Given the description of an element on the screen output the (x, y) to click on. 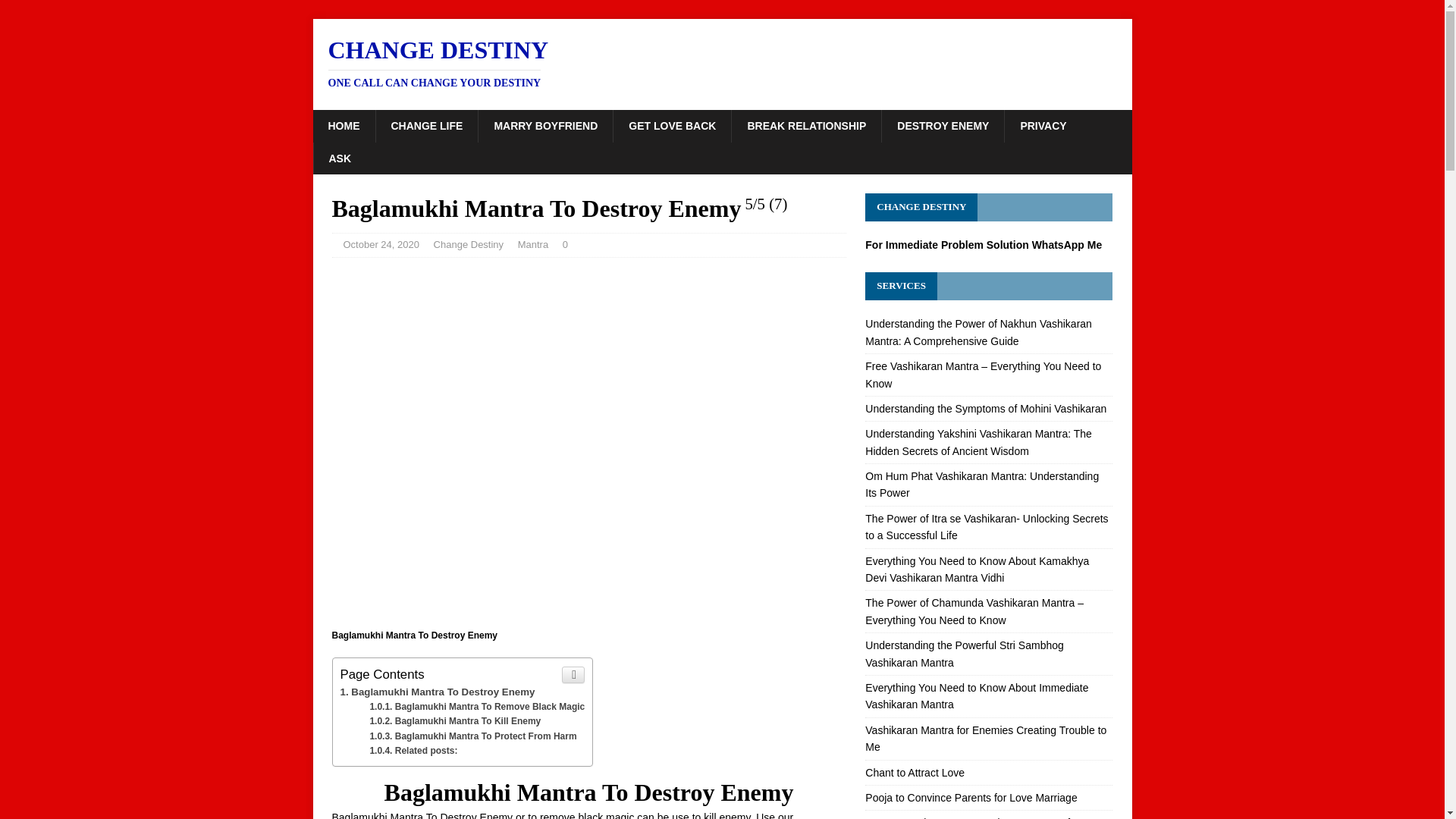
BREAK RELATIONSHIP (805, 125)
Change Destiny (468, 244)
Understanding the Powerful Stri Sambhog Vashikaran Mantra (963, 653)
Baglamukhi Mantra To Destroy Enemy (436, 691)
Mantra (533, 244)
Related posts: (721, 62)
Baglamukhi Mantra To Protect From Harm (413, 750)
GET LOVE BACK (472, 736)
HOME (671, 125)
Om Hum Phat Vashikaran Mantra: Understanding Its Power (343, 125)
